Given the description of an element on the screen output the (x, y) to click on. 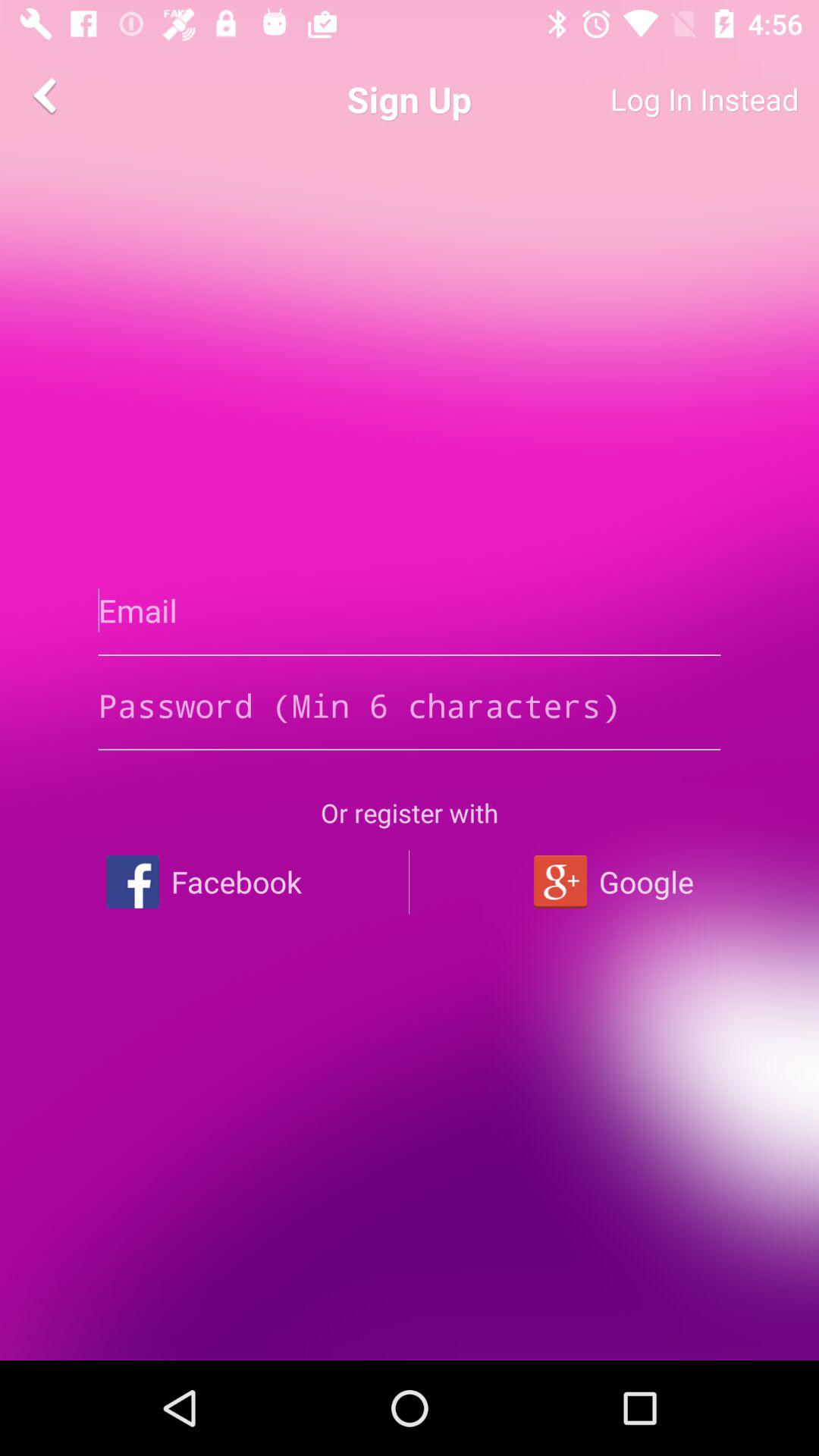
press app next to the sign up item (649, 99)
